Given the description of an element on the screen output the (x, y) to click on. 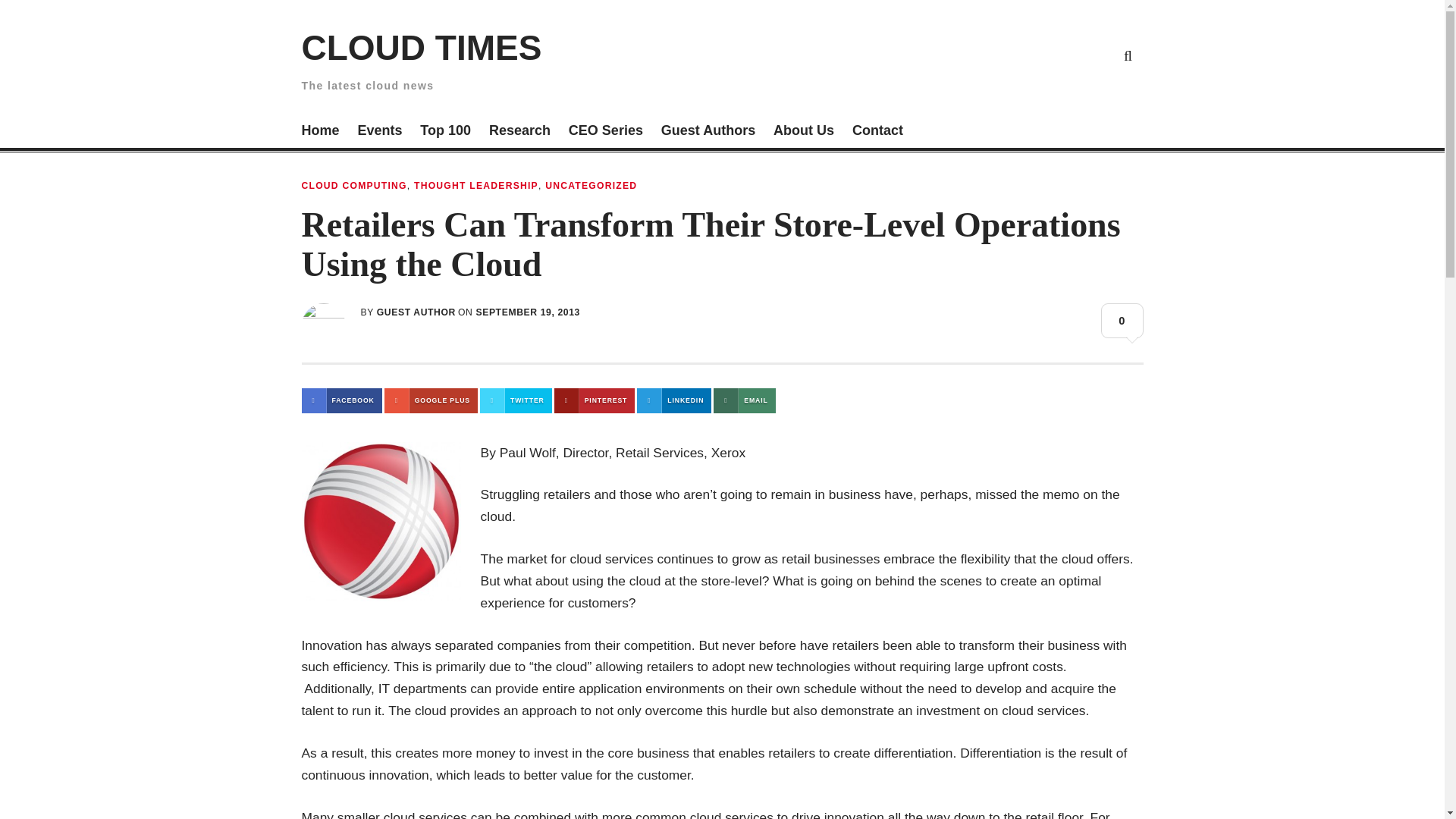
UNCATEGORIZED (590, 185)
SEPTEMBER 19, 2013 (527, 312)
Cloud Security (1056, 54)
About Us (803, 132)
THOUGHT LEADERSHIP (475, 185)
Research (519, 132)
LINKEDIN (674, 400)
Top 100 (445, 132)
EMAIL (743, 400)
Cloud Storage (951, 54)
CLOUD TIMES (421, 47)
Guest Authors (708, 132)
CEO Series (606, 132)
Events (378, 132)
FACEBOOK (341, 400)
